Given the description of an element on the screen output the (x, y) to click on. 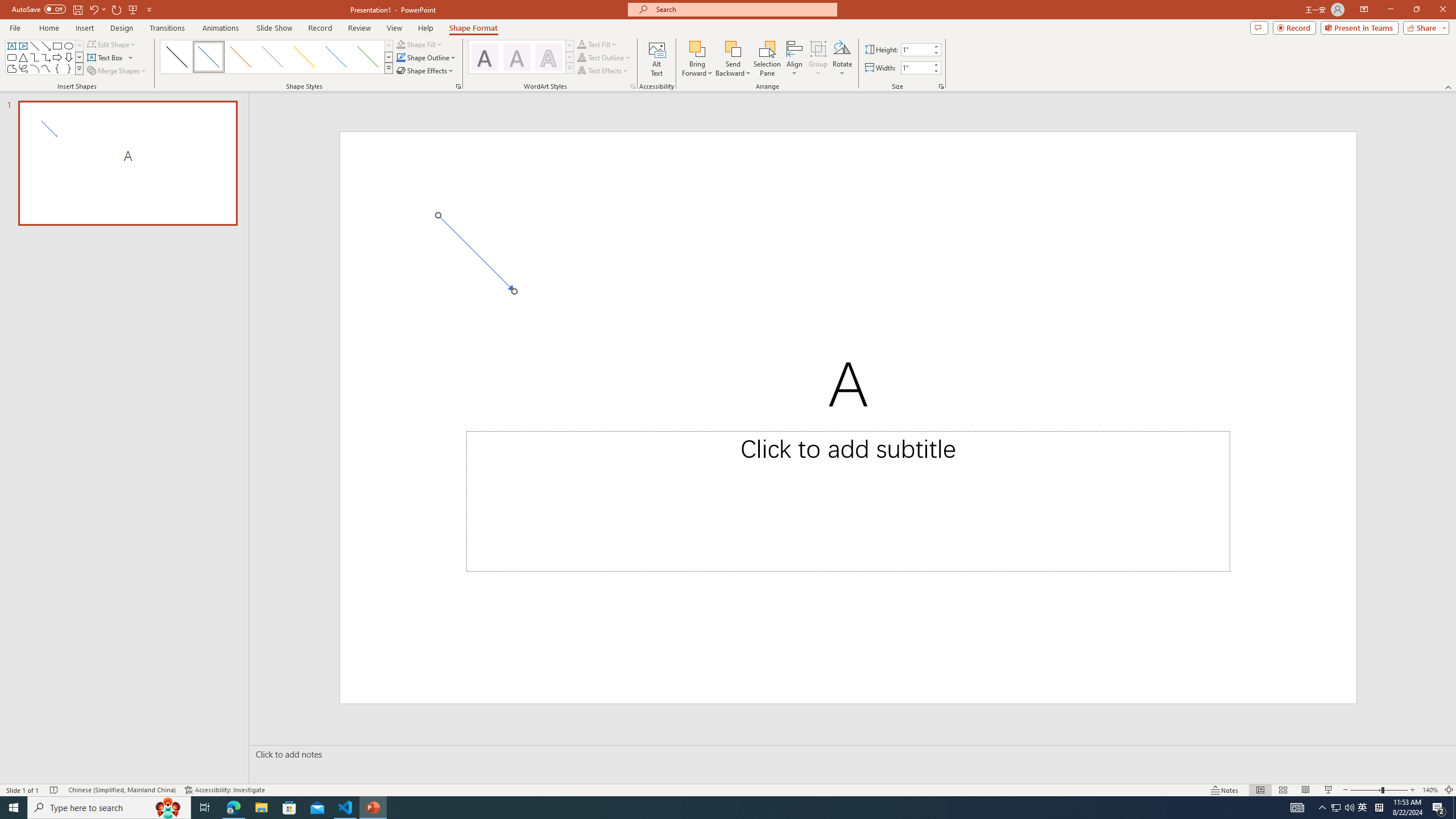
Size and Position... (941, 85)
AutomationID: TextStylesGallery (521, 56)
Subtle Line - Accent 5 (336, 56)
Text Outline (604, 56)
